Given the description of an element on the screen output the (x, y) to click on. 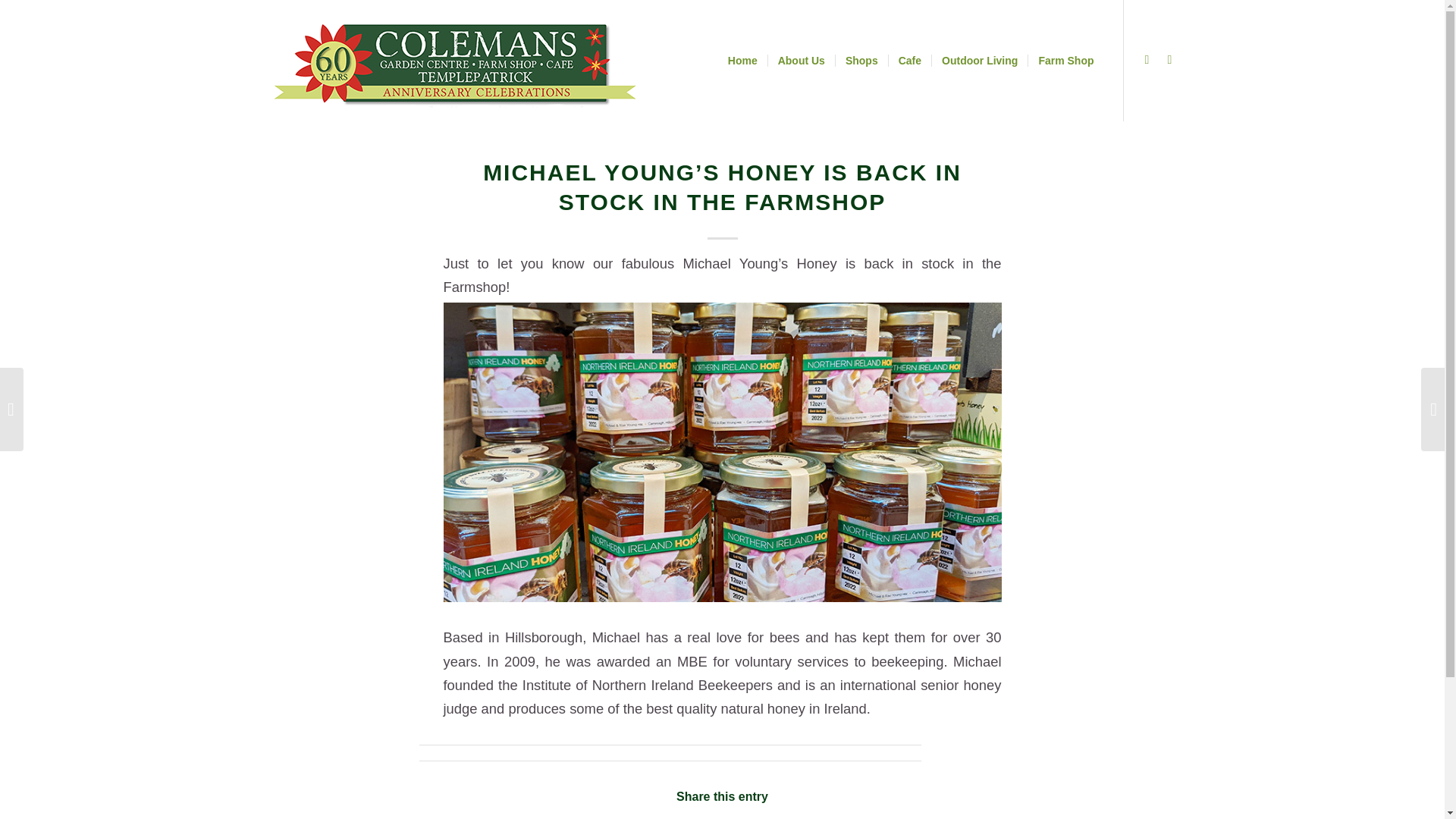
Facebook (1146, 59)
About Us (800, 60)
Shops (861, 60)
Home (742, 60)
Cafe (909, 60)
Farm Shop (1065, 60)
Instagram (1169, 59)
Outdoor Living (979, 60)
